Given the description of an element on the screen output the (x, y) to click on. 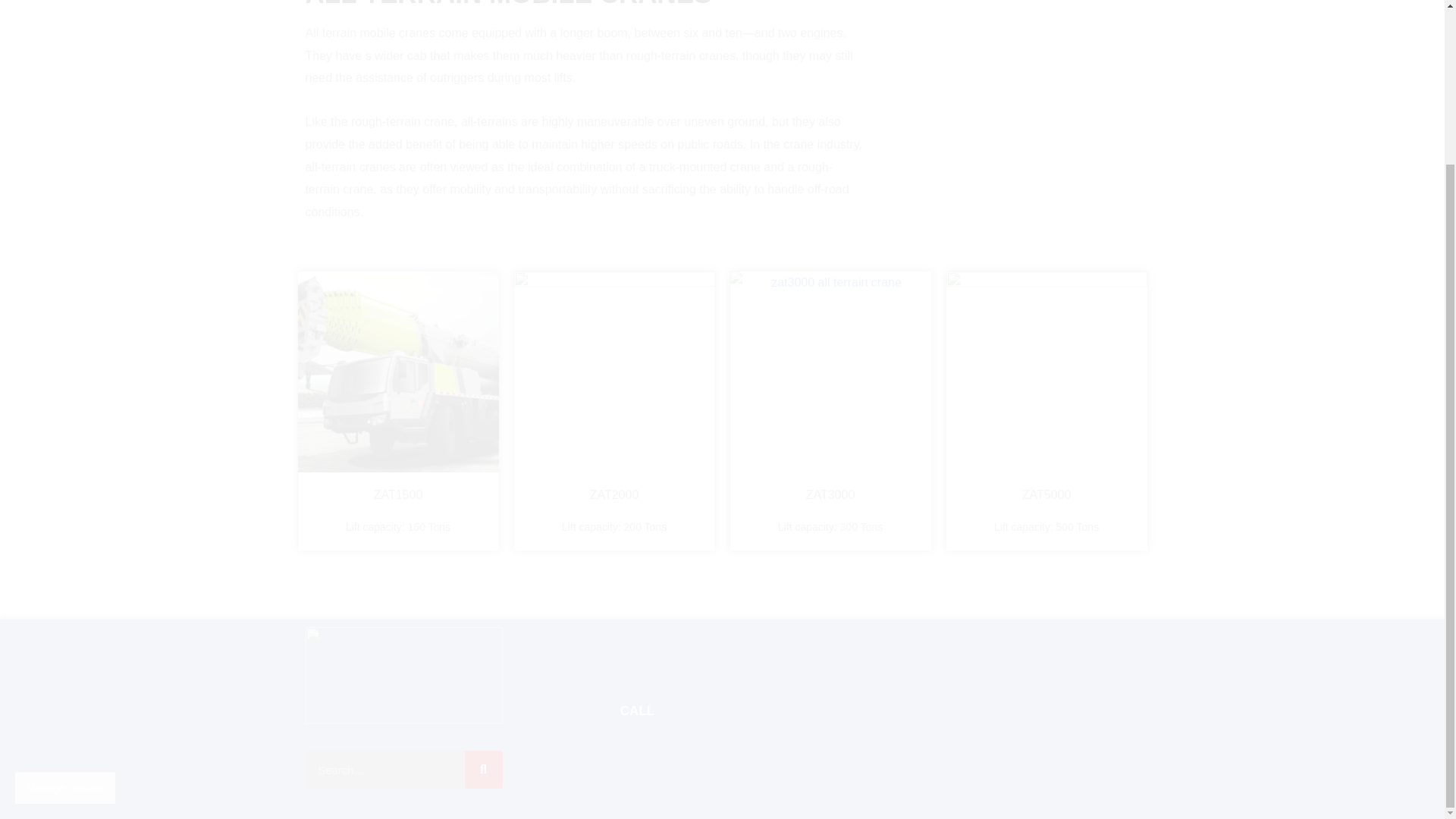
Search (483, 769)
Search (384, 769)
Manage cookies (64, 593)
